Given the description of an element on the screen output the (x, y) to click on. 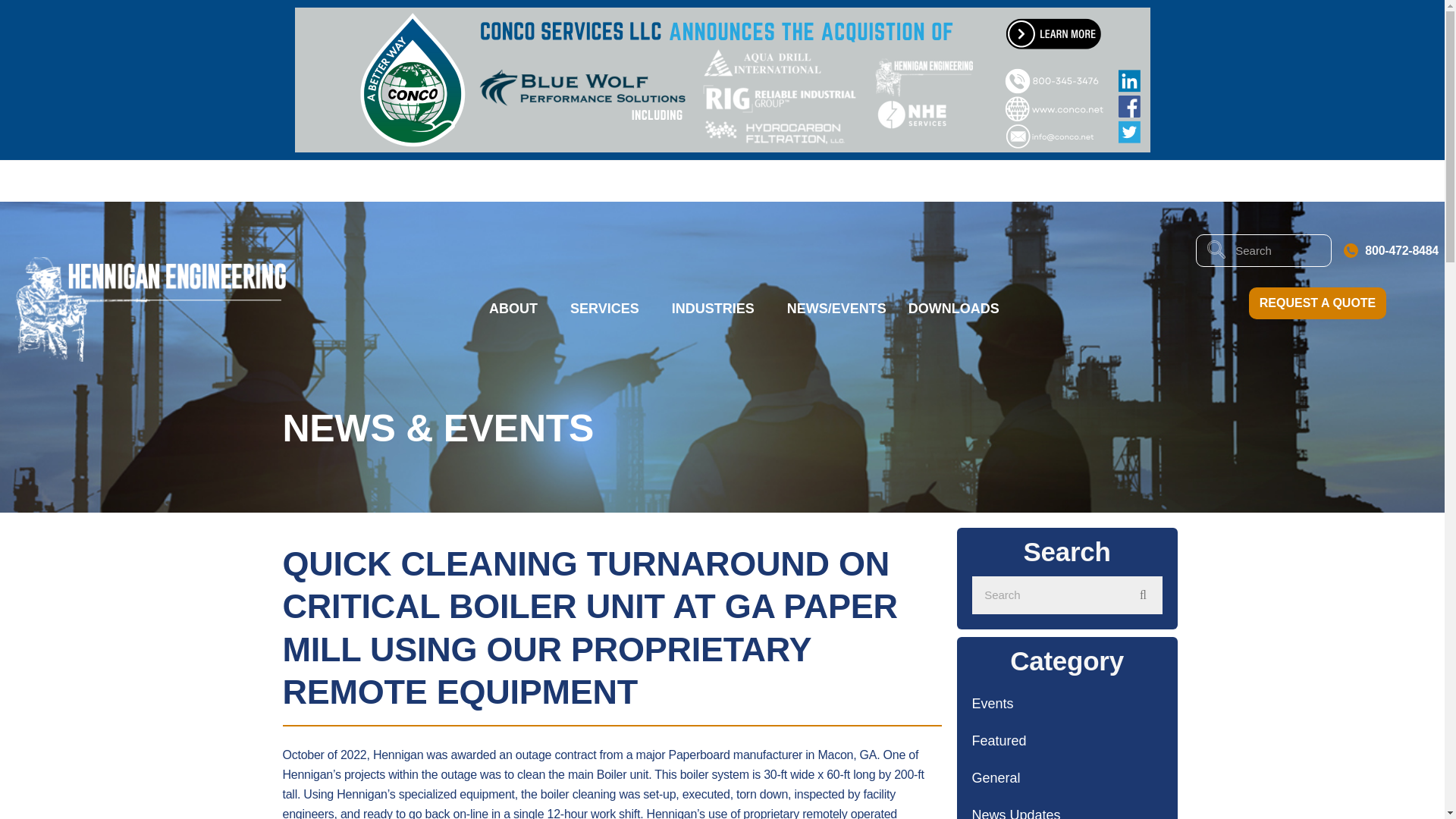
Search (1048, 595)
Path 560 (1350, 250)
800-472-8484 (1401, 250)
Search (1277, 250)
ABOUT (519, 308)
SERVICES (610, 308)
